Given the description of an element on the screen output the (x, y) to click on. 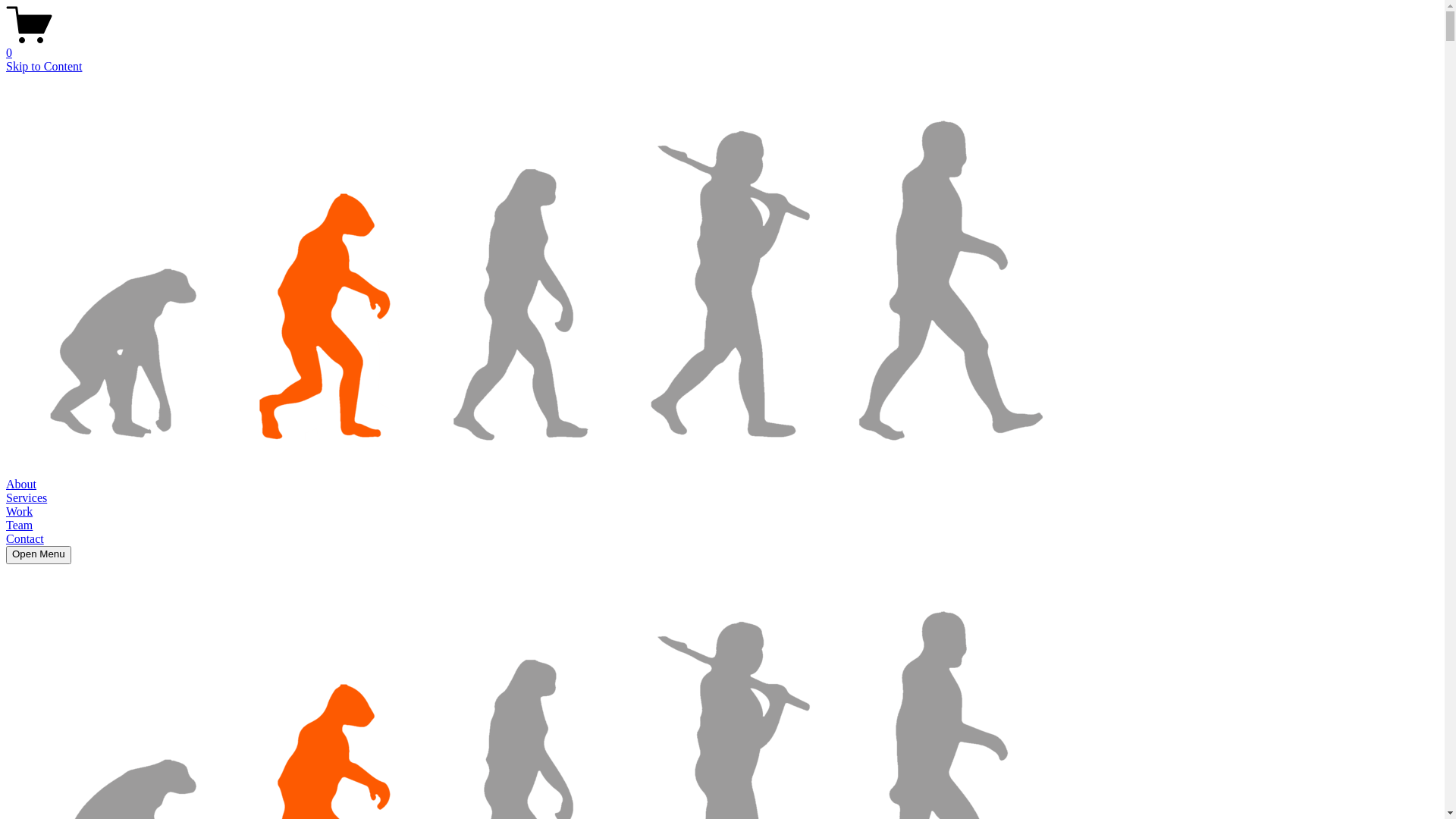
Skip to Content Element type: text (43, 65)
About Element type: text (21, 483)
Contact Element type: text (24, 538)
0 Element type: text (722, 45)
Team Element type: text (19, 524)
Work Element type: text (19, 511)
Open Menu Element type: text (38, 555)
Services Element type: text (26, 497)
